Given the description of an element on the screen output the (x, y) to click on. 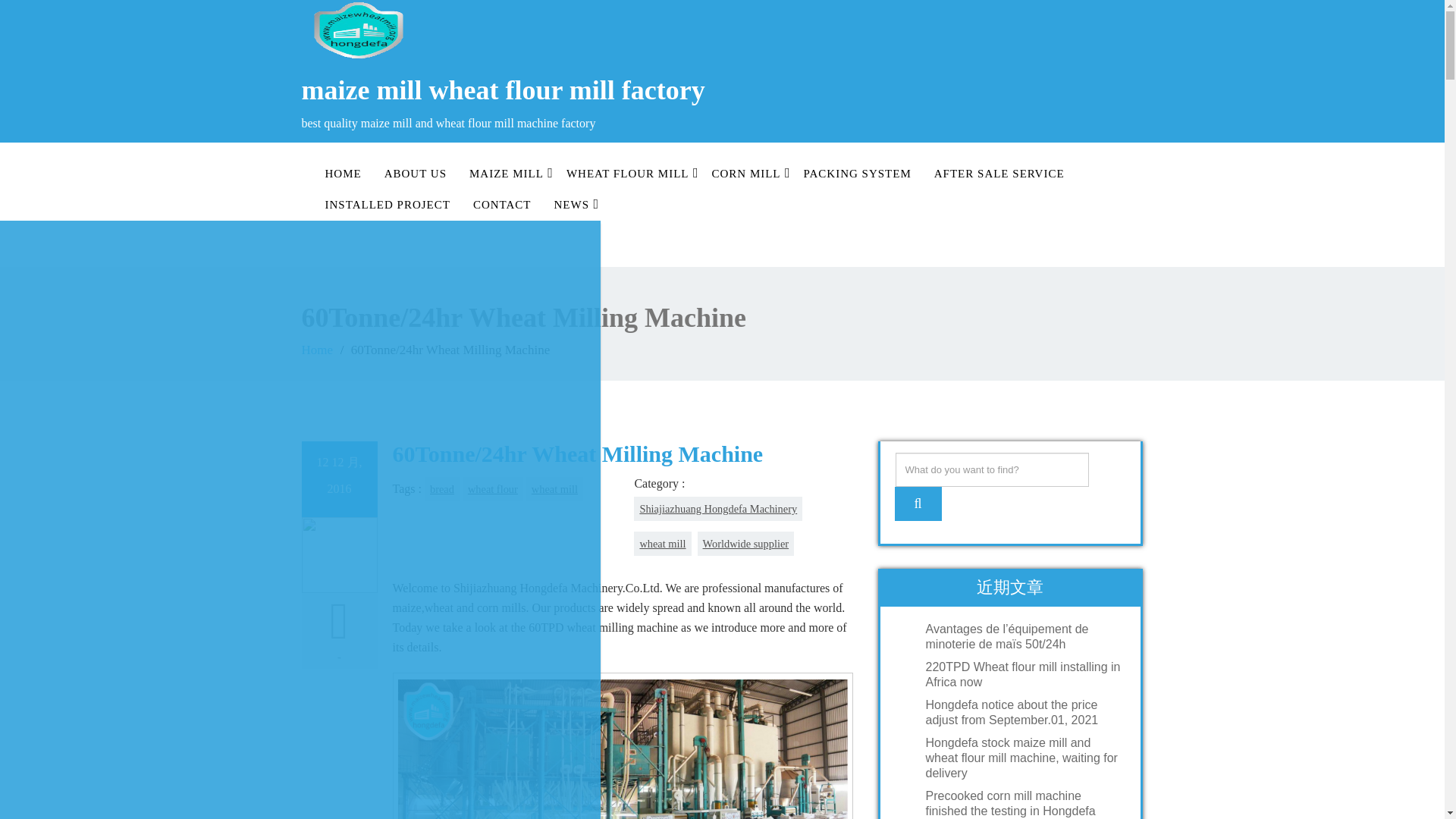
WHEAT FLOUR MILL (627, 173)
CONTACT (502, 204)
PRICE ADJUST NOTICE (300, 273)
ABOUT US (415, 173)
AFTER SALE SERVICE (999, 173)
MAIZE MILL (506, 173)
NEWS (572, 204)
WHERE DO NIGERIAN BUY 100T CORN GRINDING MILL? (300, 660)
OUR TEAM IN KENYA NOW FOR MAIZE WHEAT MILL BUSINESS (300, 308)
PACKING SYSTEM (857, 173)
